Given the description of an element on the screen output the (x, y) to click on. 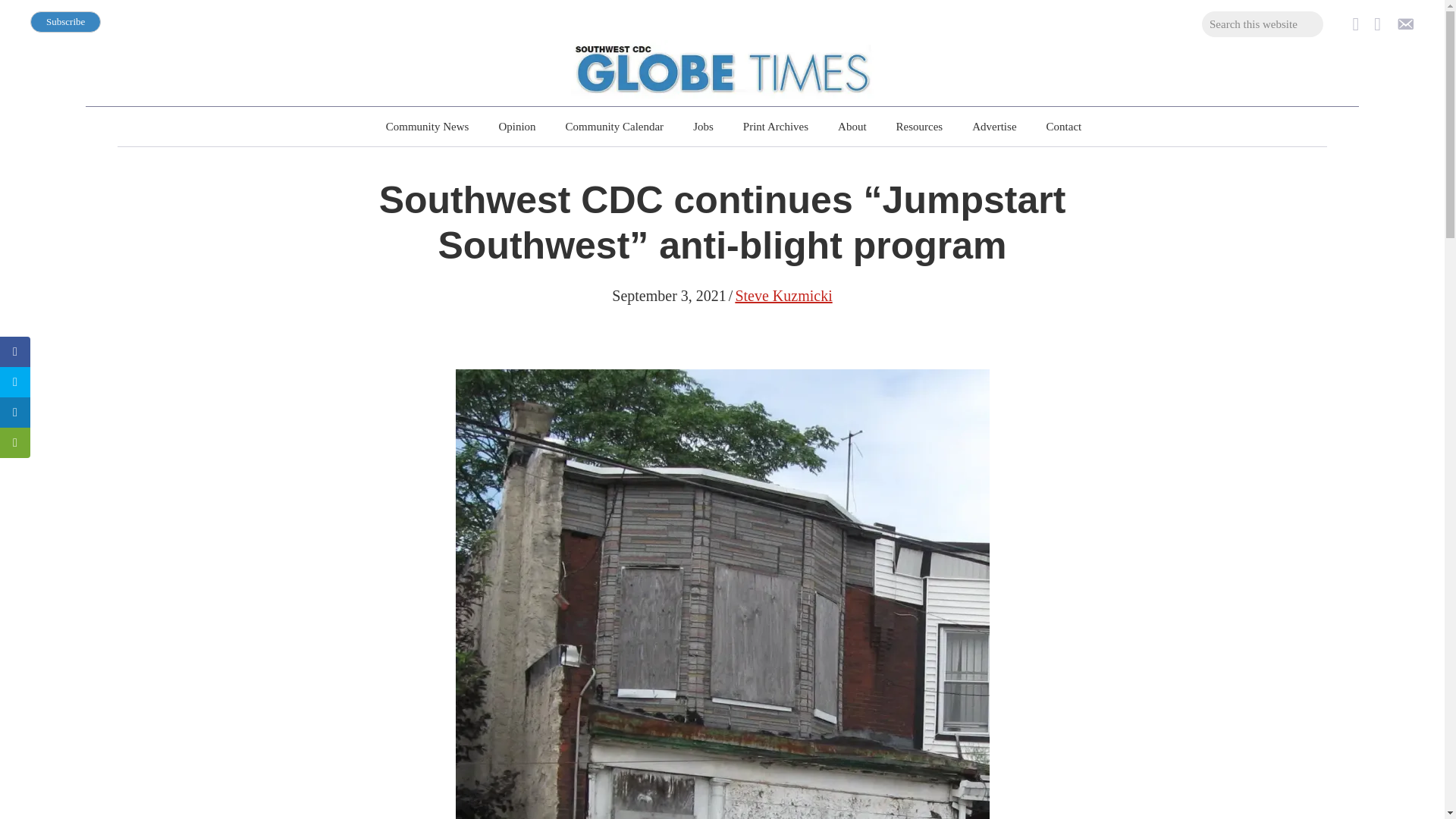
Community News (427, 126)
Print Archives (775, 126)
Subscribe (65, 21)
Opinion (516, 126)
Steve Kuzmicki (783, 295)
Resources (919, 126)
About (852, 126)
Advertise (993, 126)
Jobs (702, 126)
Community Calendar (614, 126)
Contact (1064, 126)
